Given the description of an element on the screen output the (x, y) to click on. 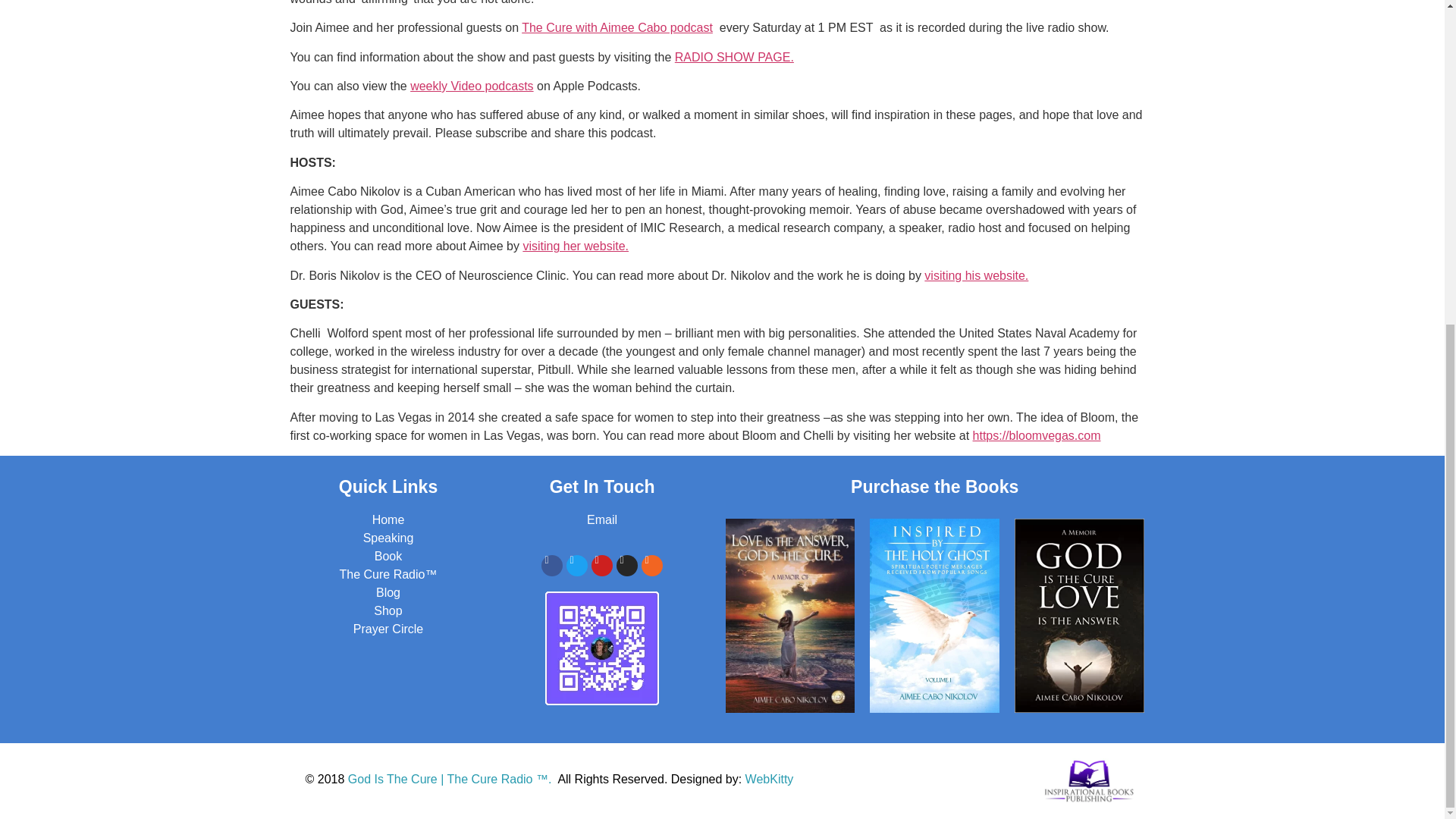
Home (388, 519)
weekly Video podcasts (471, 85)
visiting her website. (575, 245)
visiting his website. (975, 275)
The Cure with Aimee Cabo podcast (617, 27)
Speaking (387, 537)
RADIO SHOW PAGE. (734, 56)
Book (387, 555)
